Given the description of an element on the screen output the (x, y) to click on. 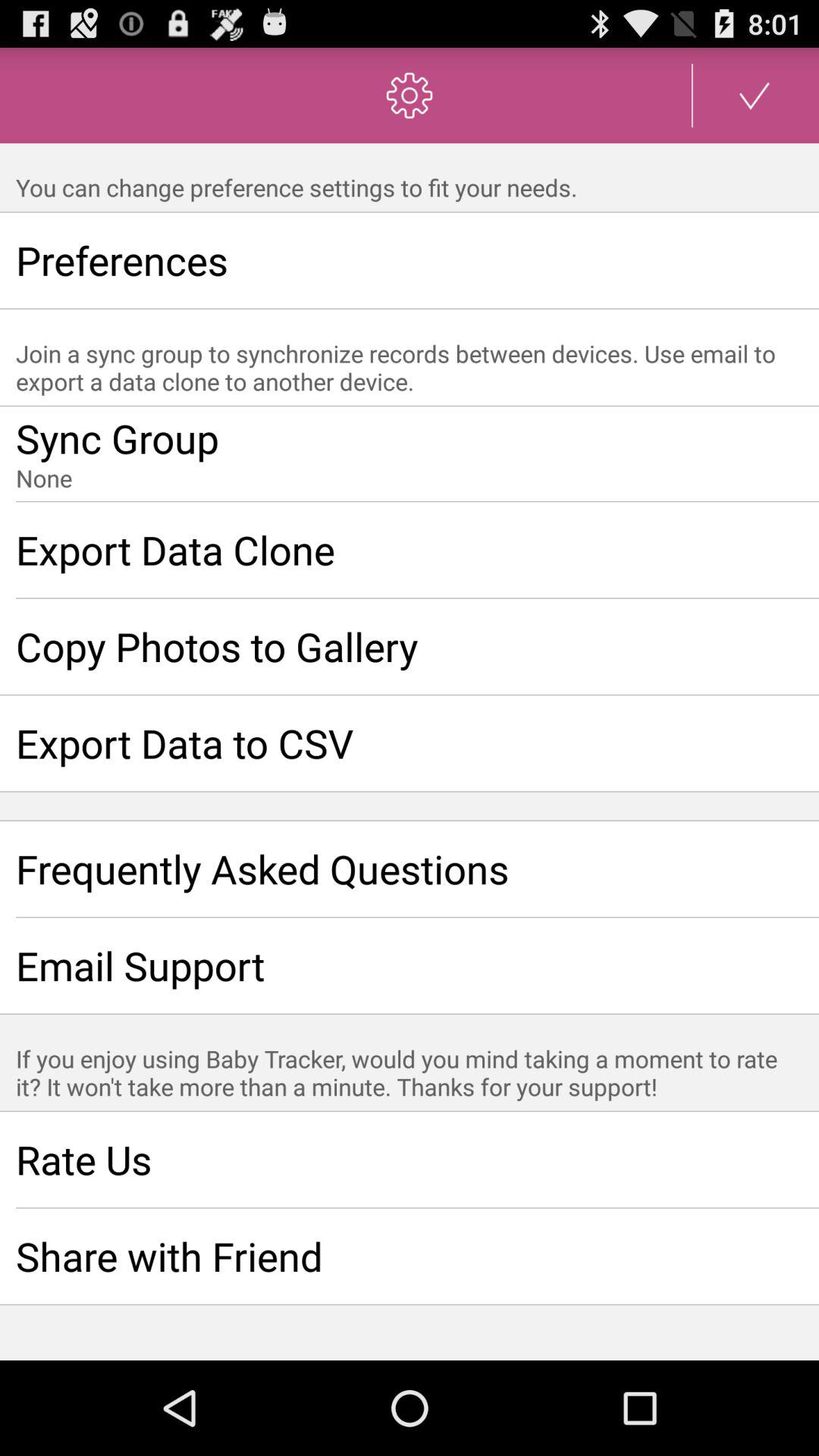
scroll to the preferences icon (409, 260)
